Given the description of an element on the screen output the (x, y) to click on. 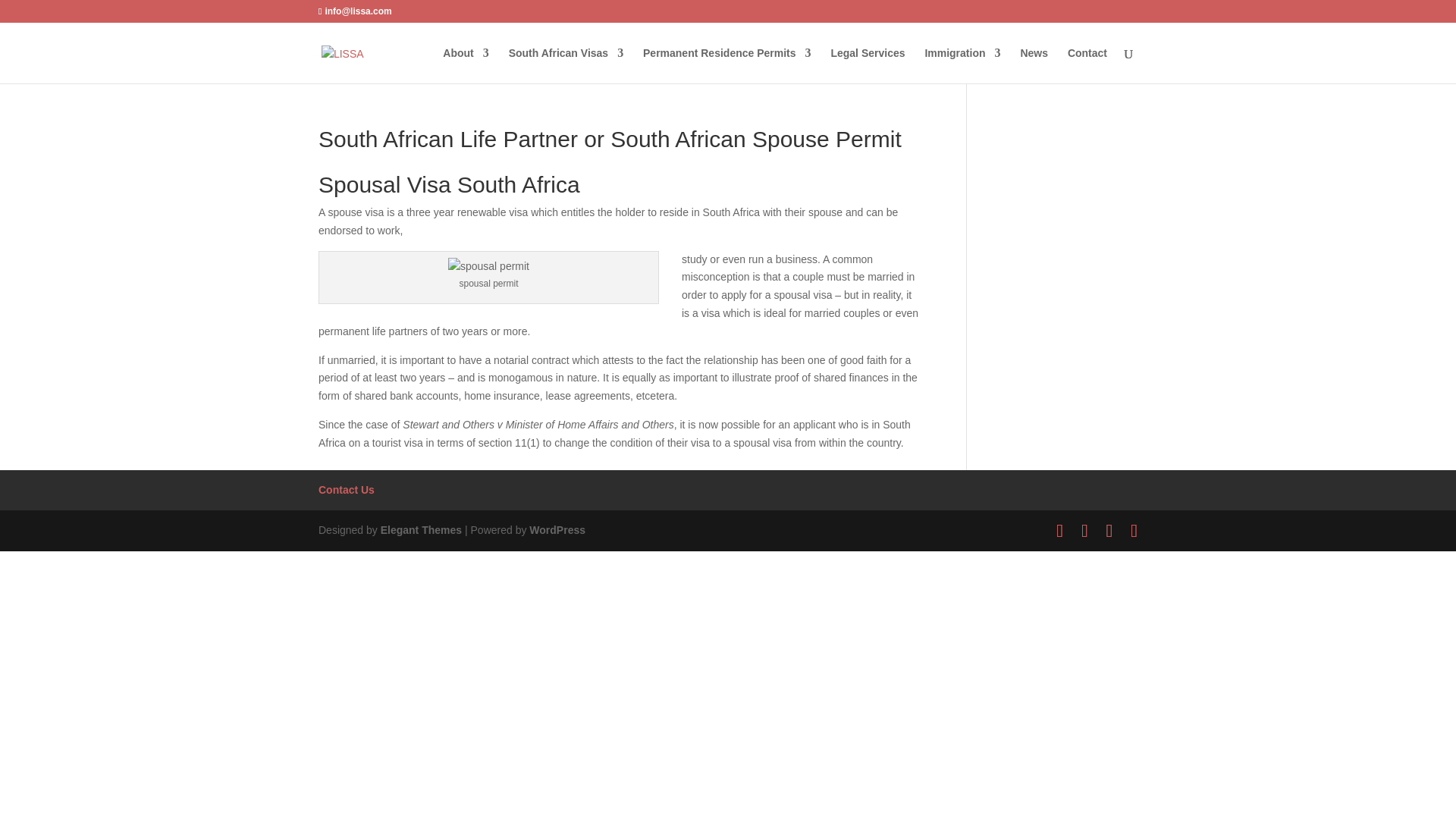
South African Visas (565, 65)
Elegant Themes (420, 530)
WordPress (557, 530)
Immigration (962, 65)
About (464, 65)
Premium WordPress Themes (420, 530)
Permanent Residence Permits (726, 65)
Legal Services (866, 65)
Contact Us (346, 490)
Contact (1086, 65)
